Given the description of an element on the screen output the (x, y) to click on. 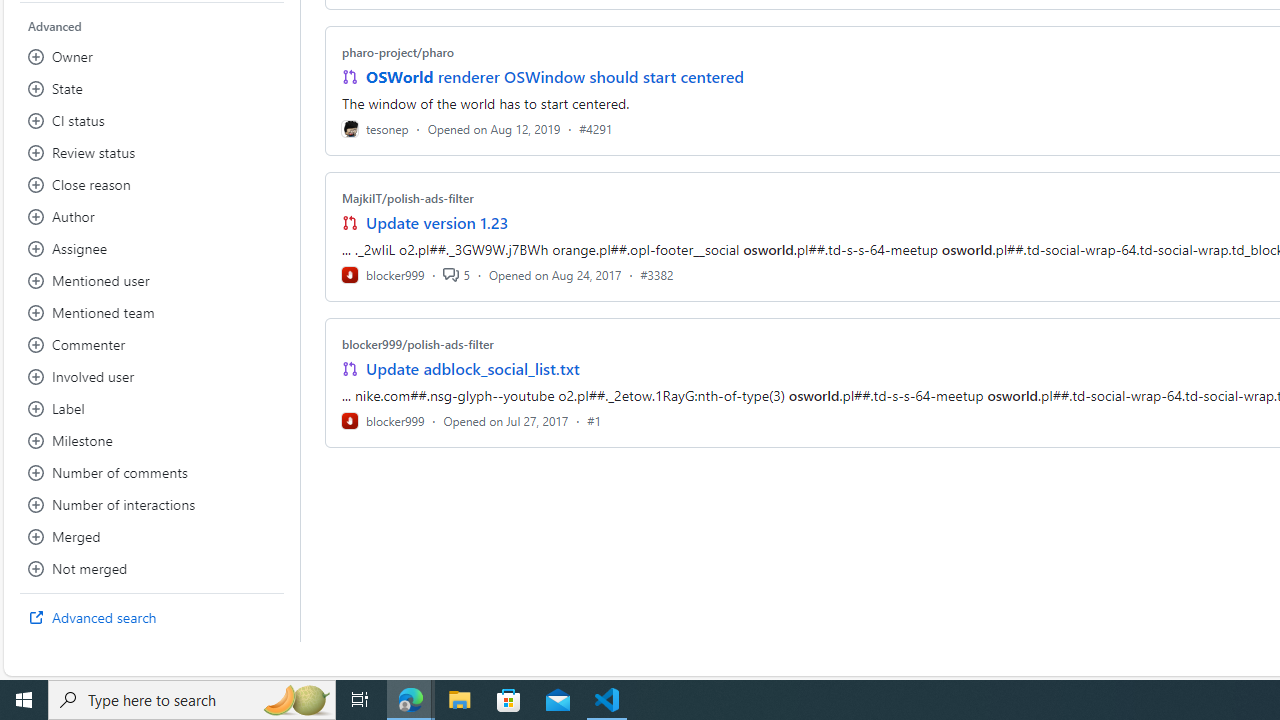
OSWorld renderer OSWindow should start centered (554, 76)
MajkiIT/polish-ads-filter (407, 197)
blocker999/polish-ads-filter (417, 343)
blocker999 (382, 420)
#1 (594, 420)
